Given the description of an element on the screen output the (x, y) to click on. 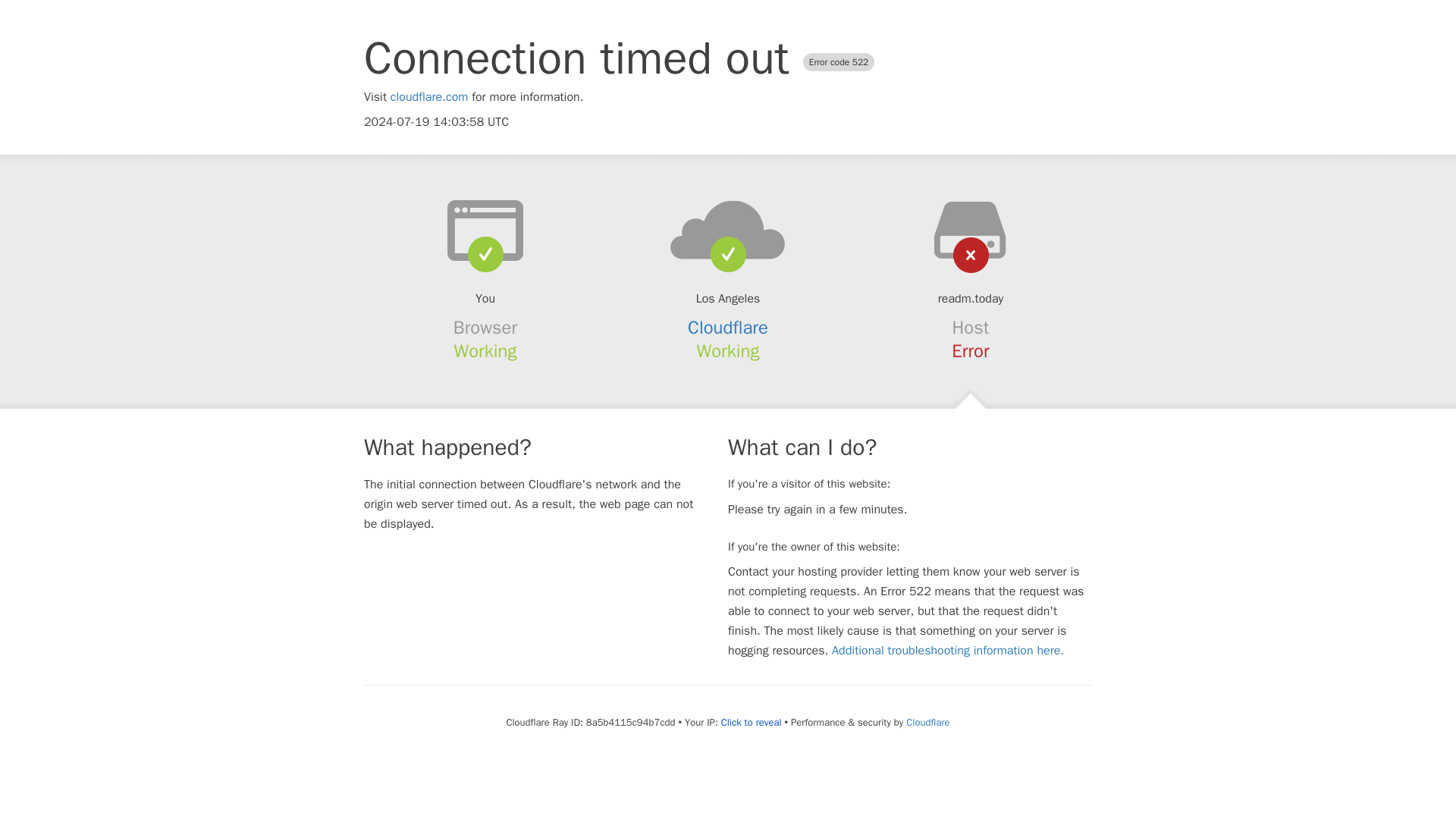
cloudflare.com (429, 96)
Click to reveal (750, 722)
Cloudflare (727, 327)
Cloudflare (927, 721)
Additional troubleshooting information here. (947, 650)
